Given the description of an element on the screen output the (x, y) to click on. 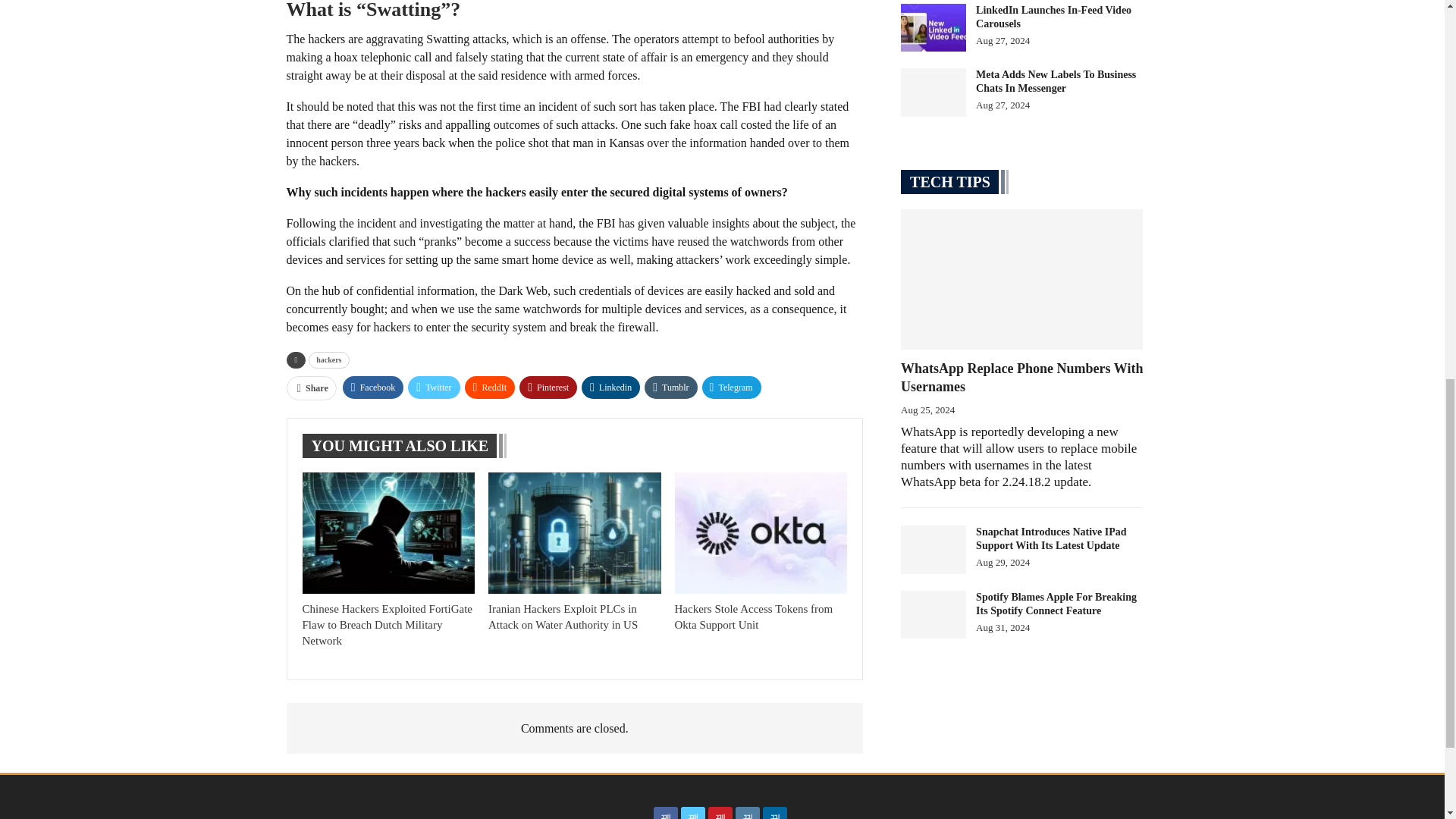
WhatsApp Replace Phone Numbers With Usernames (1021, 279)
Telegram (731, 386)
ReddIt (489, 386)
Meta Adds New Labels to Business Chats in Messenger (933, 92)
Hackers Stole Access Tokens from Okta Support Unit (761, 532)
Hackers Stole Access Tokens from Okta Support Unit (753, 616)
